Given the description of an element on the screen output the (x, y) to click on. 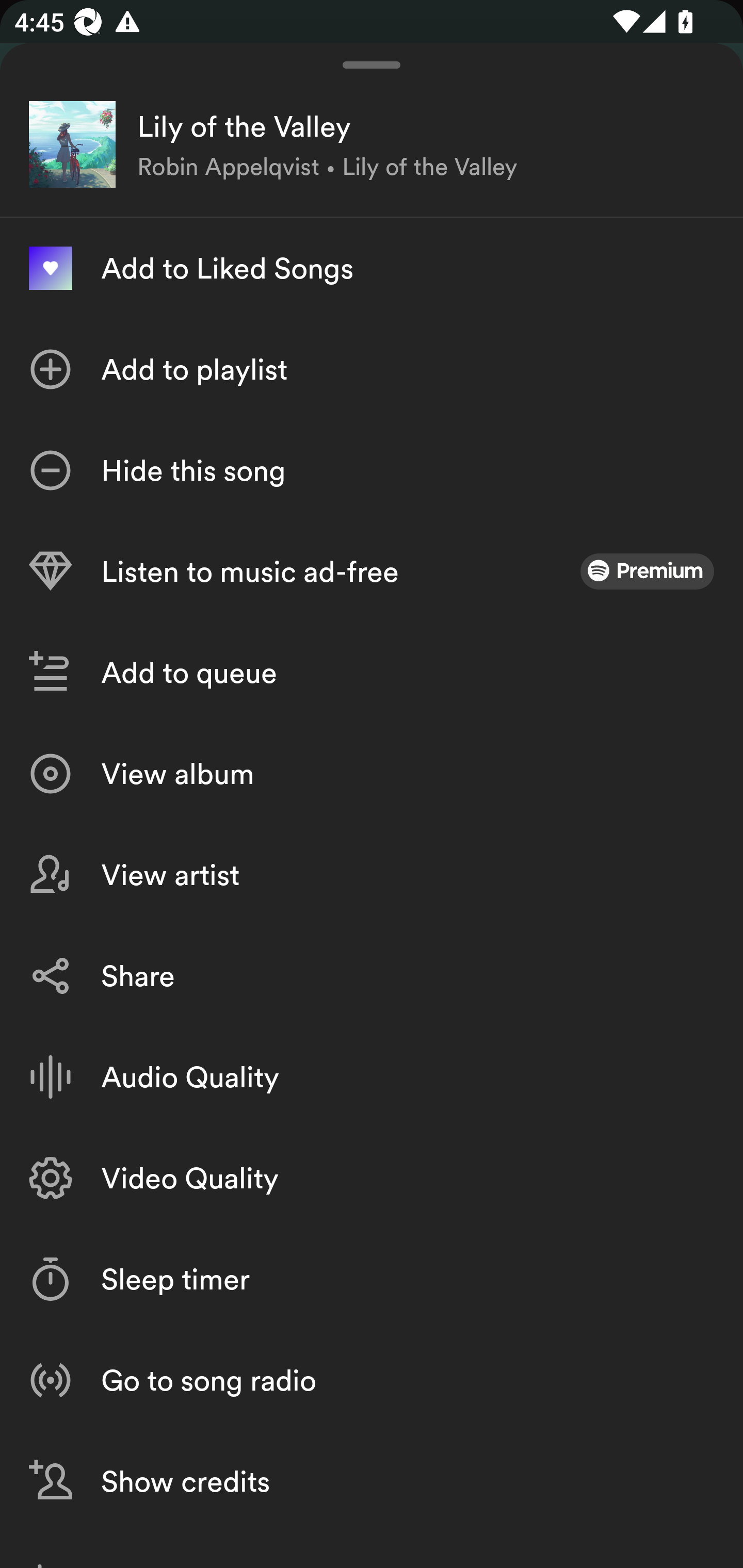
Add to Liked Songs (371, 267)
Add to playlist (371, 369)
Hide this song (371, 470)
Listen to music ad-free (371, 571)
Add to queue (371, 672)
View album (371, 773)
View artist (371, 874)
Share (371, 976)
Audio Quality (371, 1077)
Video Quality (371, 1178)
Sleep timer (371, 1279)
Go to song radio (371, 1379)
Show credits (371, 1480)
